Given the description of an element on the screen output the (x, y) to click on. 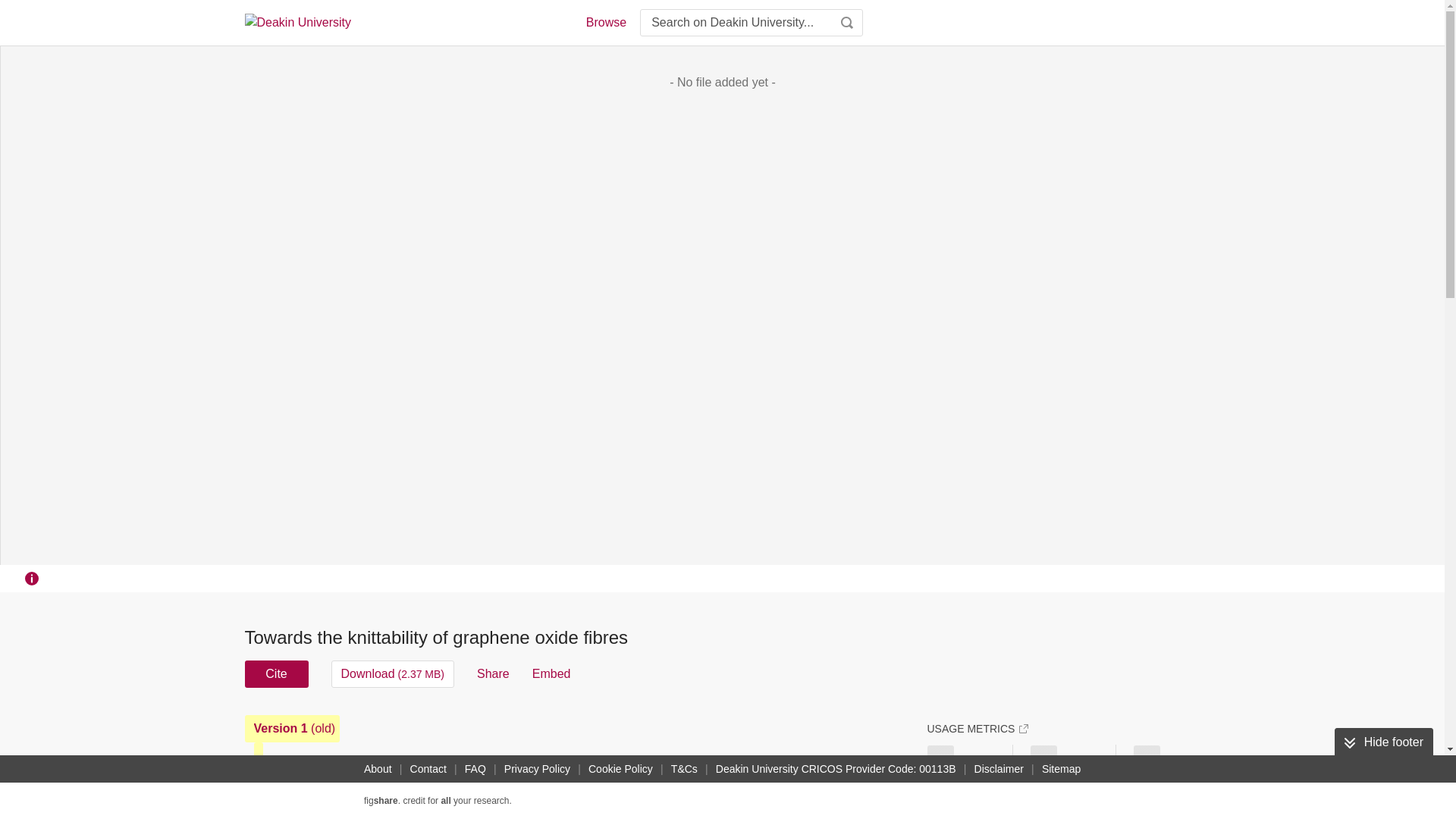
Browse (605, 22)
Share (493, 673)
Embed (551, 673)
Cite (275, 673)
USAGE METRICS (976, 728)
Joselito Razal (324, 788)
